Given the description of an element on the screen output the (x, y) to click on. 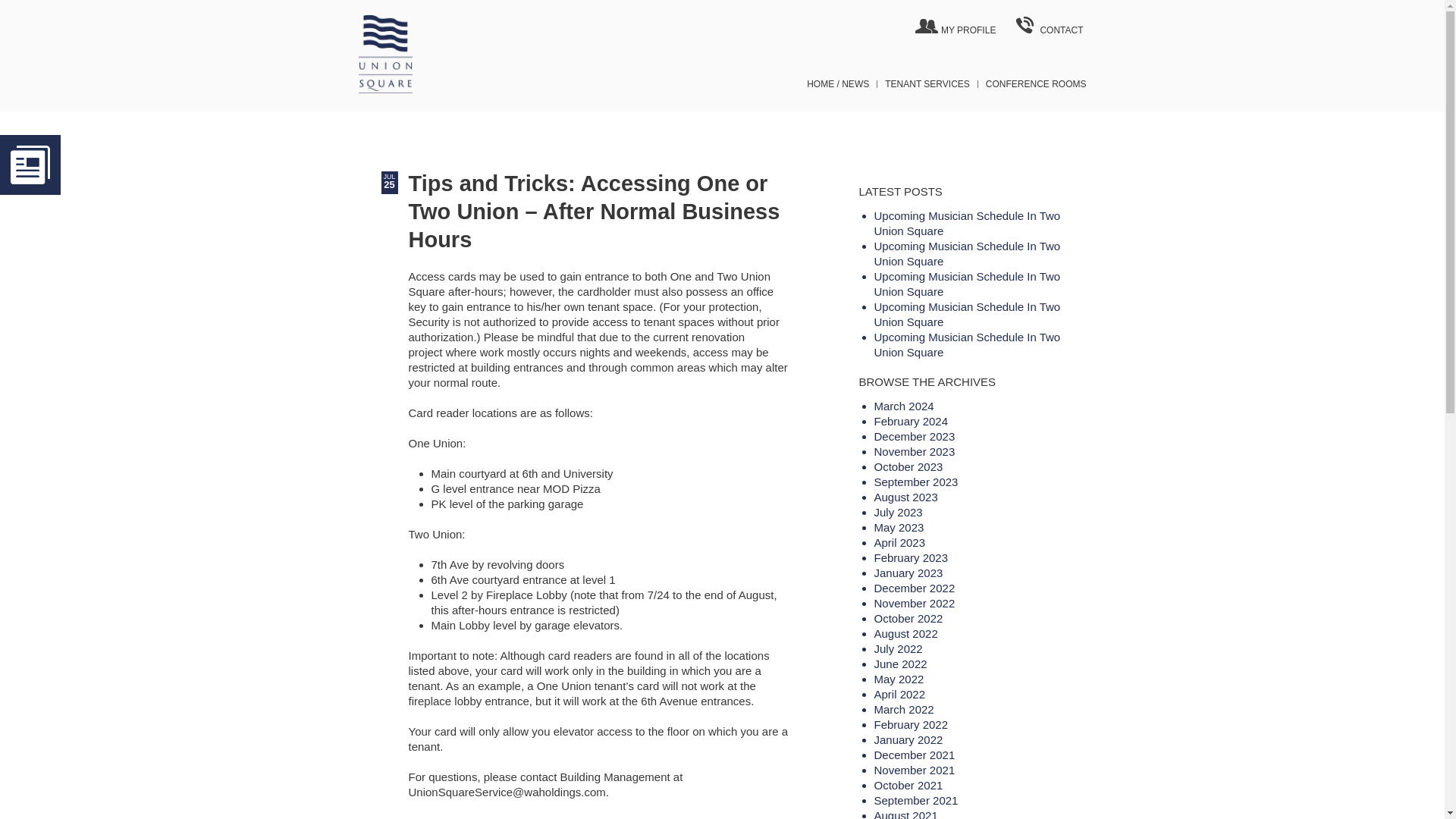
MY PROFILE (956, 25)
August 2022 (905, 632)
May 2022 (898, 677)
CONTACT (1049, 25)
October 2022 (907, 617)
February 2024 (910, 420)
February 2022 (910, 723)
Upcoming Musician Schedule In Two Union Square (966, 344)
Upcoming Musician Schedule In Two Union Square (966, 223)
August 2023 (905, 495)
July 2023 (897, 511)
December 2023 (914, 435)
Upcoming Musician Schedule In Two Union Square (966, 284)
November 2023 (914, 450)
April 2022 (898, 693)
